Given the description of an element on the screen output the (x, y) to click on. 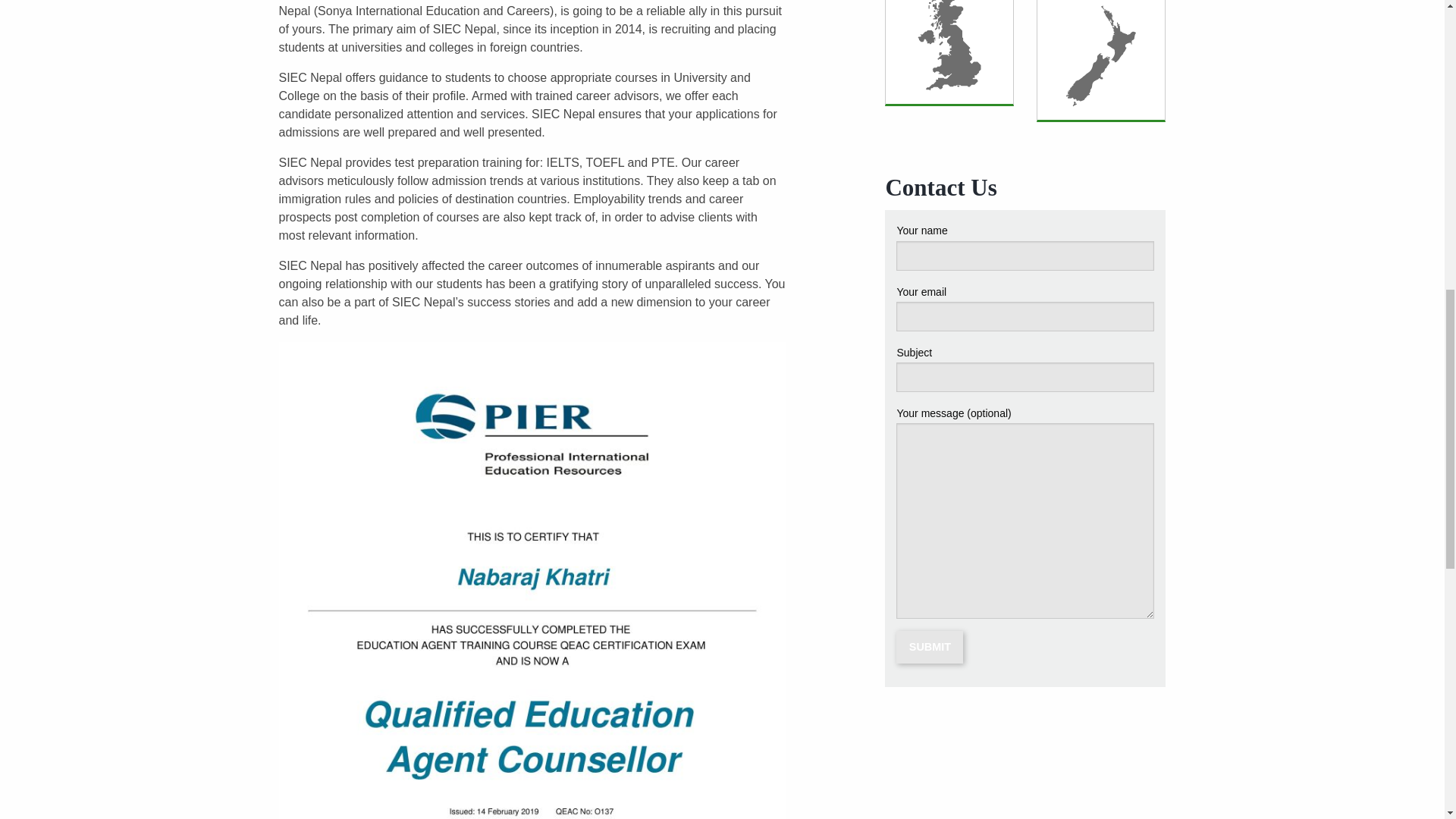
Submit (929, 646)
